Given the description of an element on the screen output the (x, y) to click on. 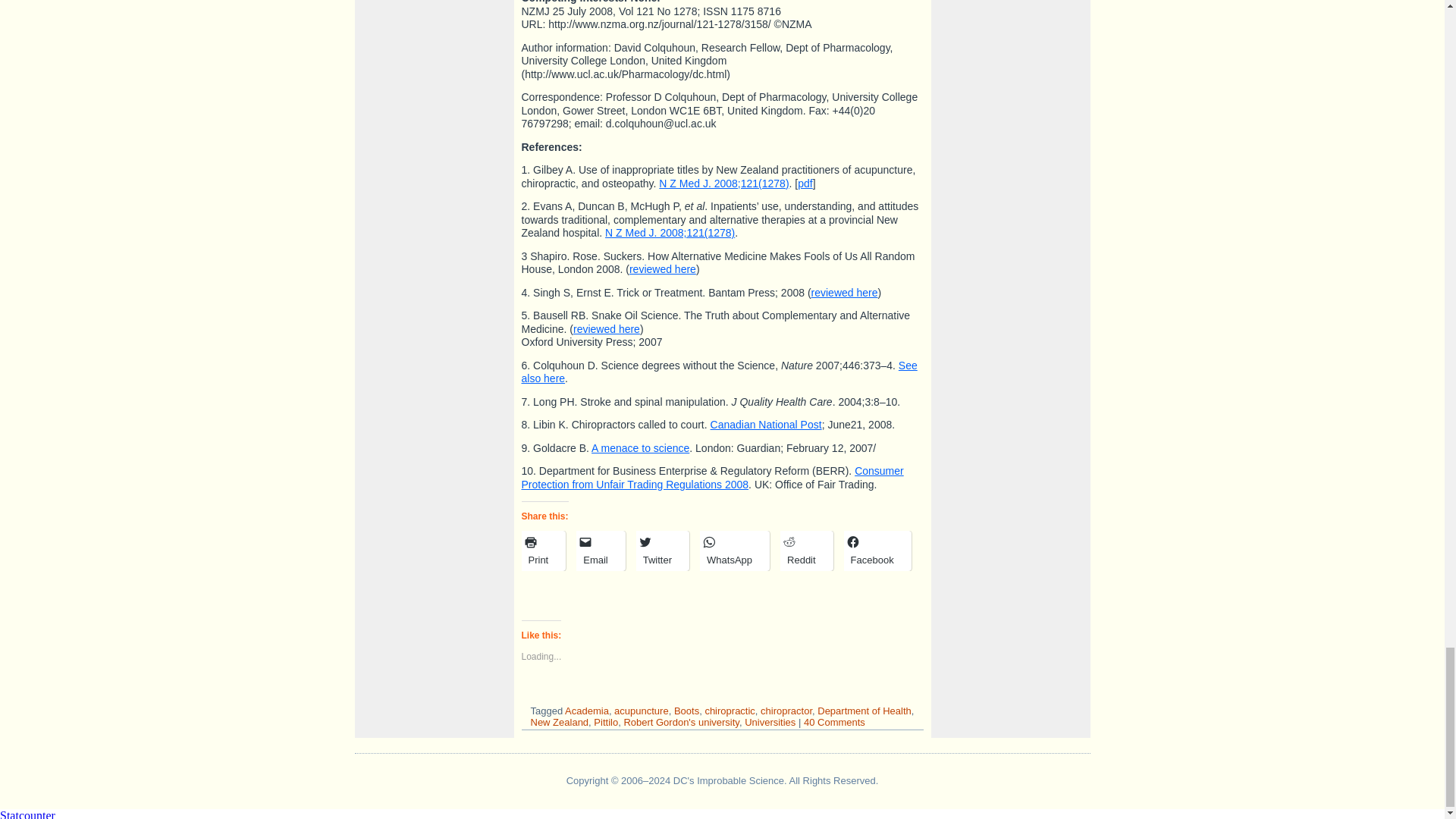
Click to email a link to a friend (599, 550)
Click to share on Reddit (804, 550)
Click to share on Twitter (659, 550)
Click to share on Facebook (875, 550)
Click to print (541, 550)
Click to share on WhatsApp (732, 550)
